Given the description of an element on the screen output the (x, y) to click on. 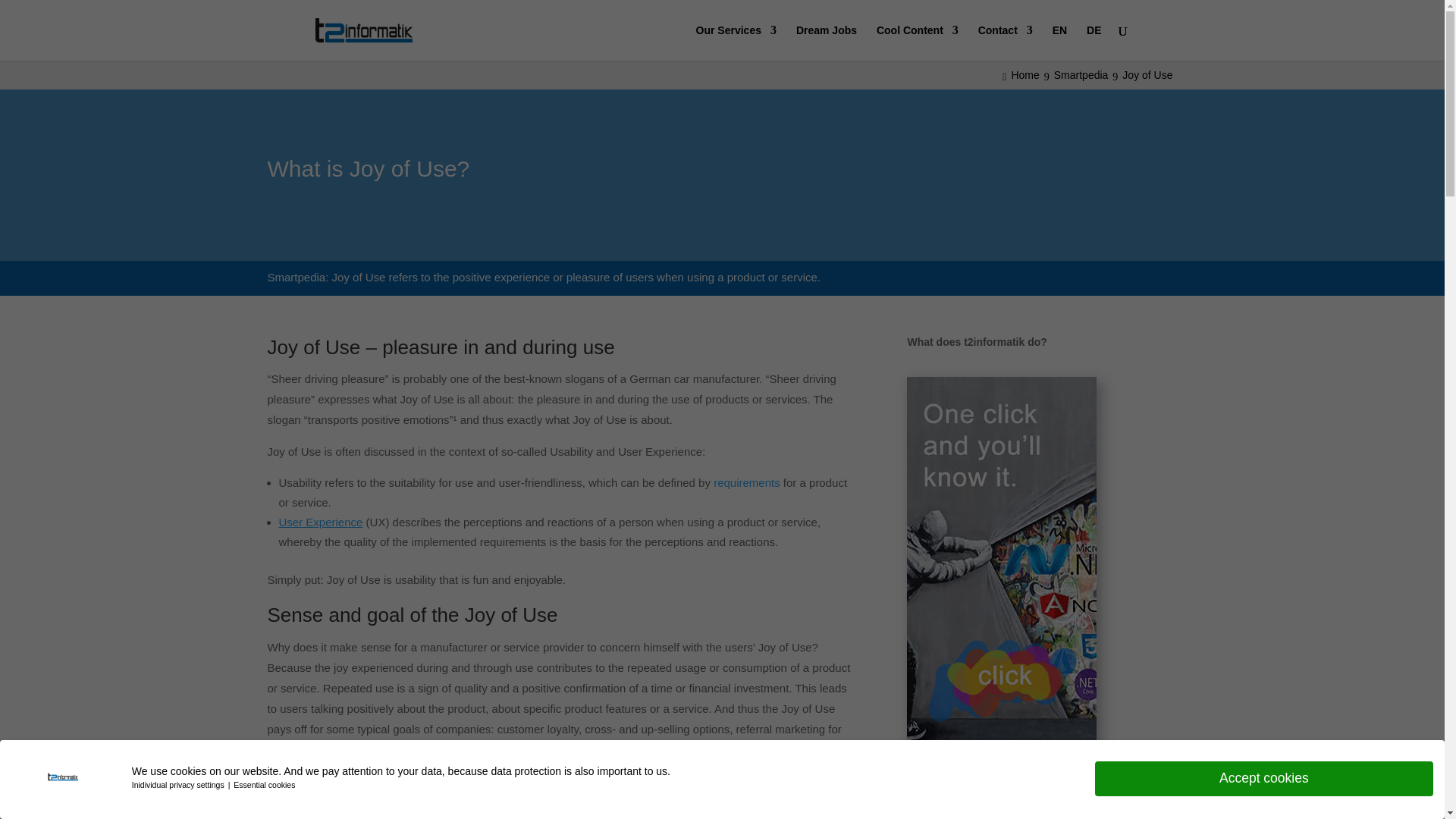
Our Services (735, 42)
requirements (746, 481)
Cool Content (917, 42)
Smartpedia (1083, 74)
Home (1023, 74)
Dream Jobs (826, 42)
Contact (1005, 42)
